Given the description of an element on the screen output the (x, y) to click on. 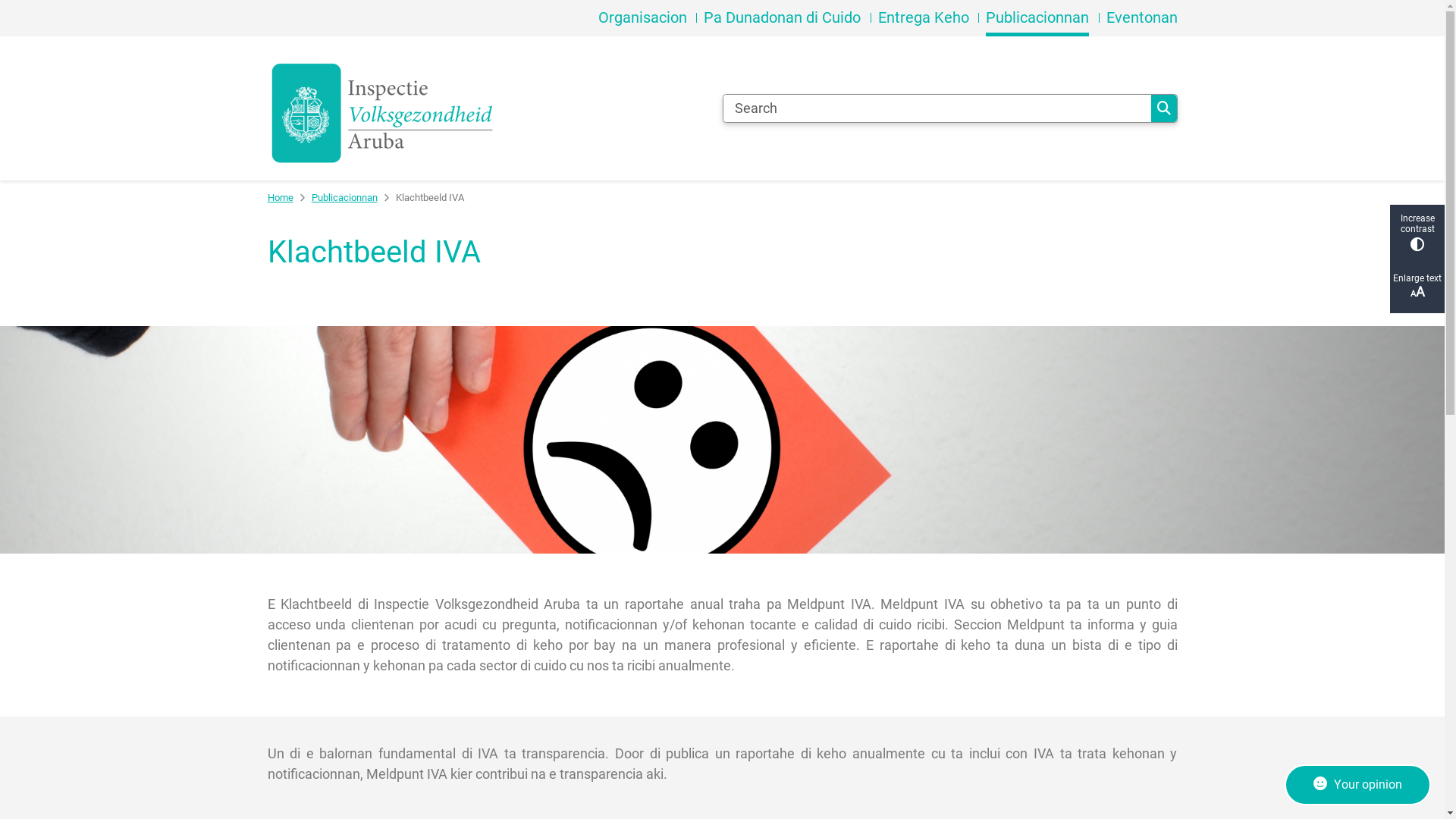
Entrega Keho Element type: text (928, 18)
Publicacionnan Element type: text (344, 197)
Enlarge text Element type: text (1417, 286)
Publicacionnan Element type: text (1041, 18)
Home Element type: text (279, 197)
Go to the homepage Element type: hover (487, 107)
Increase contrast Element type: text (1417, 231)
Pa Dunadonan di Cuido Element type: text (786, 18)
Eventonan Element type: text (1140, 18)
Organisacion Element type: text (647, 18)
Search Element type: text (1163, 108)
Your opinion Element type: text (1357, 784)
